Given the description of an element on the screen output the (x, y) to click on. 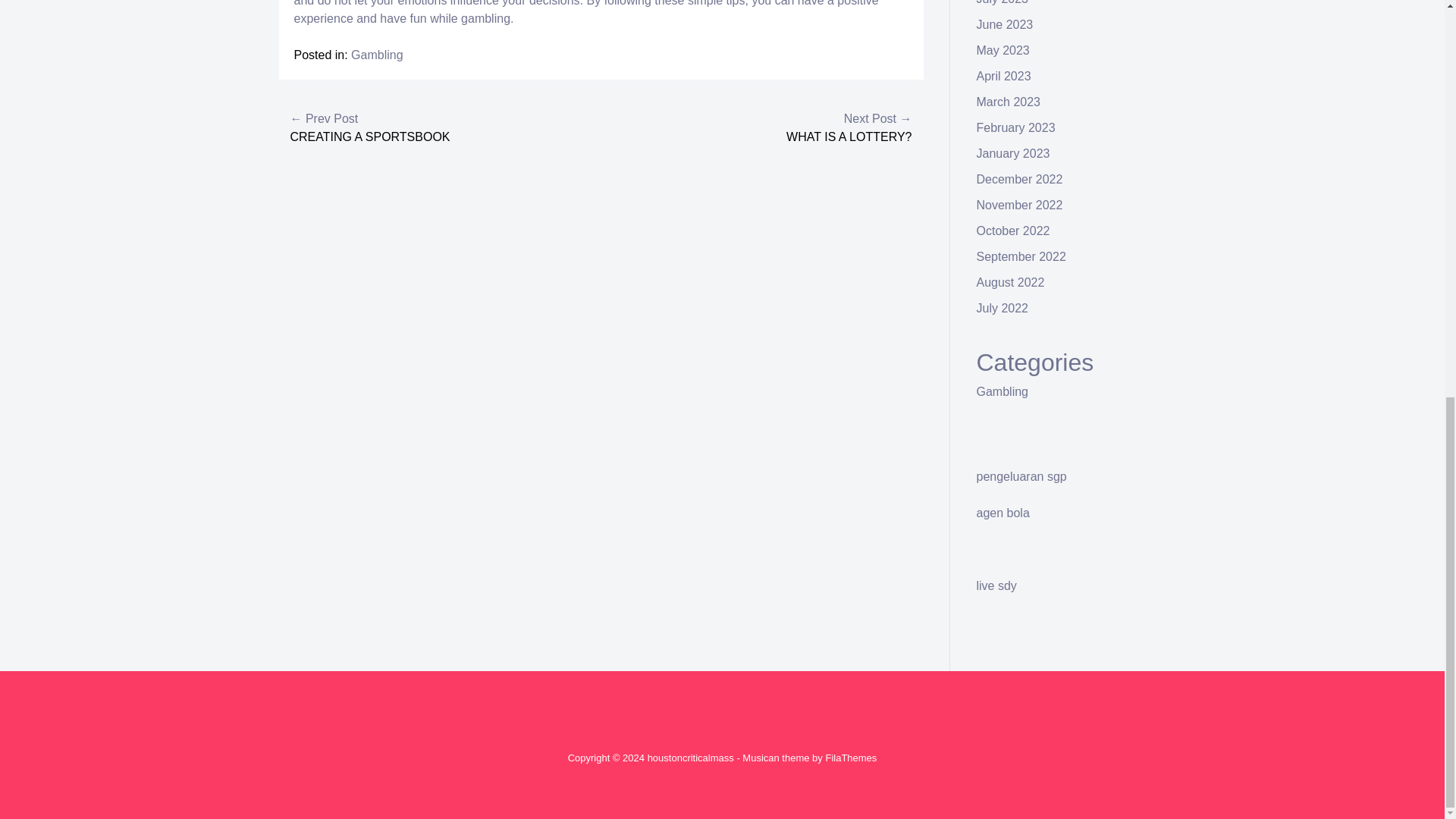
June 2023 (1004, 24)
Gambling (376, 54)
houstoncriticalmass (690, 757)
August 2022 (1010, 282)
February 2023 (1015, 127)
May 2023 (1002, 50)
September 2022 (1020, 256)
July 2023 (1002, 2)
March 2023 (1008, 101)
April 2023 (1003, 75)
January 2023 (1012, 153)
July 2022 (1002, 308)
October 2022 (1012, 230)
December 2022 (1019, 178)
November 2022 (1019, 205)
